Given the description of an element on the screen output the (x, y) to click on. 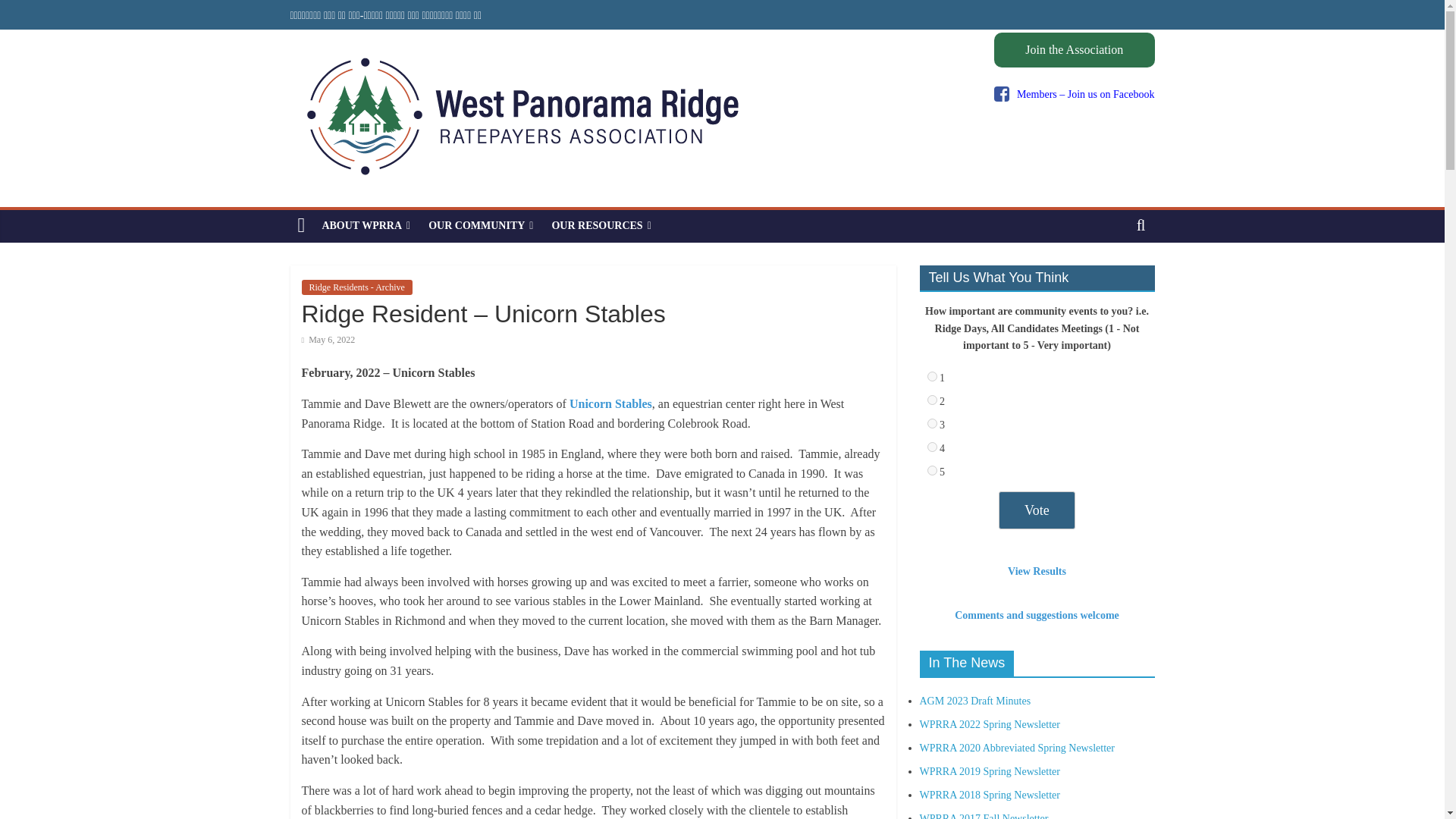
Comments and suggestions welcome (1037, 614)
Join the Association (1074, 49)
7:14 am (328, 339)
AGM 2023 Draft Minutes (974, 700)
OUR RESOURCES (600, 225)
OUR COMMUNITY (480, 225)
32 (931, 447)
33 (931, 470)
ABOUT WPRRA (366, 225)
   Vote    (1036, 510)
View Results Of This Poll (1036, 571)
May 6, 2022 (328, 339)
Unicorn Stables (610, 403)
29 (931, 376)
31 (931, 423)
